Given the description of an element on the screen output the (x, y) to click on. 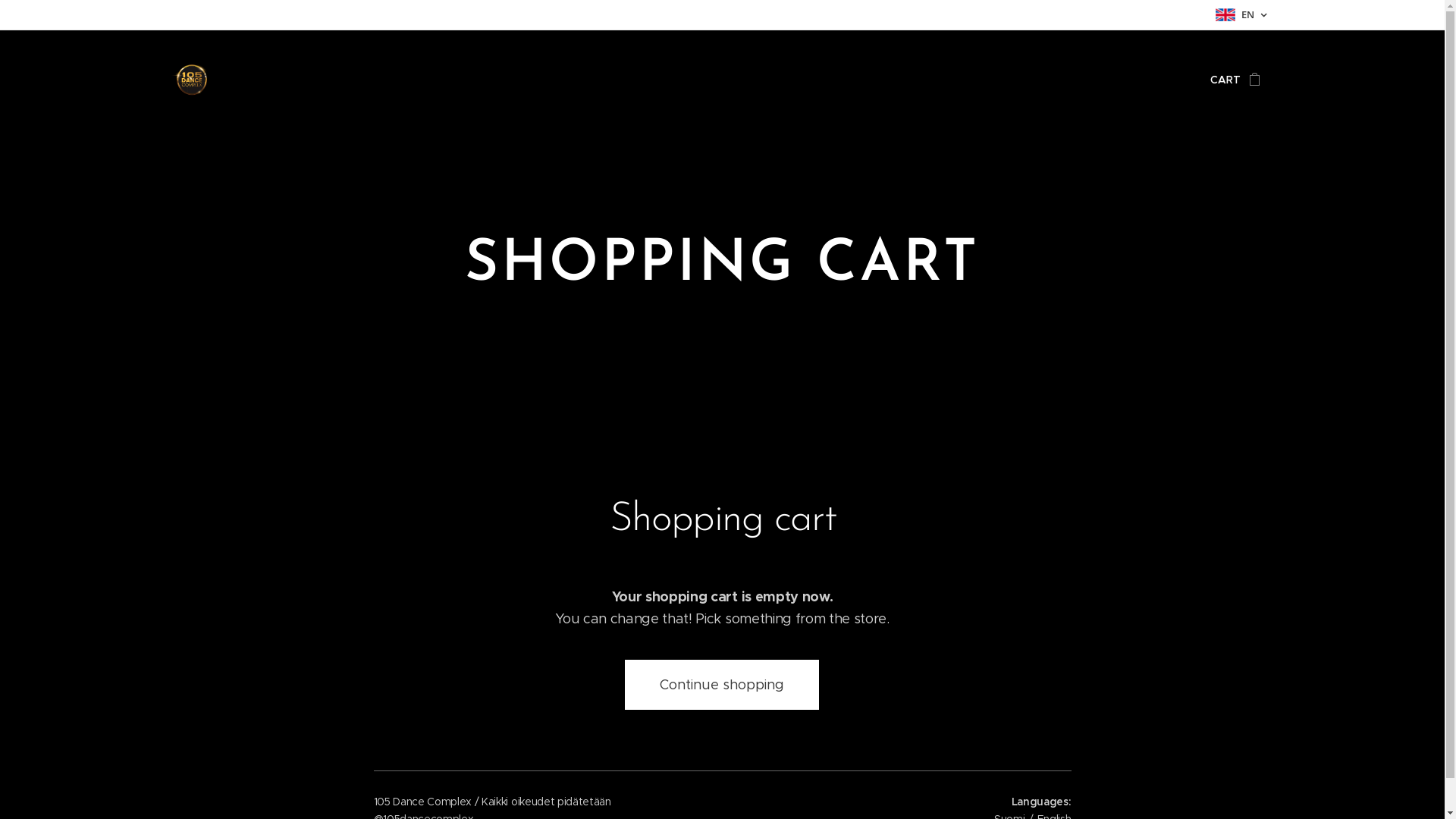
CART Element type: text (1228, 79)
Continue shopping Element type: text (721, 684)
